Given the description of an element on the screen output the (x, y) to click on. 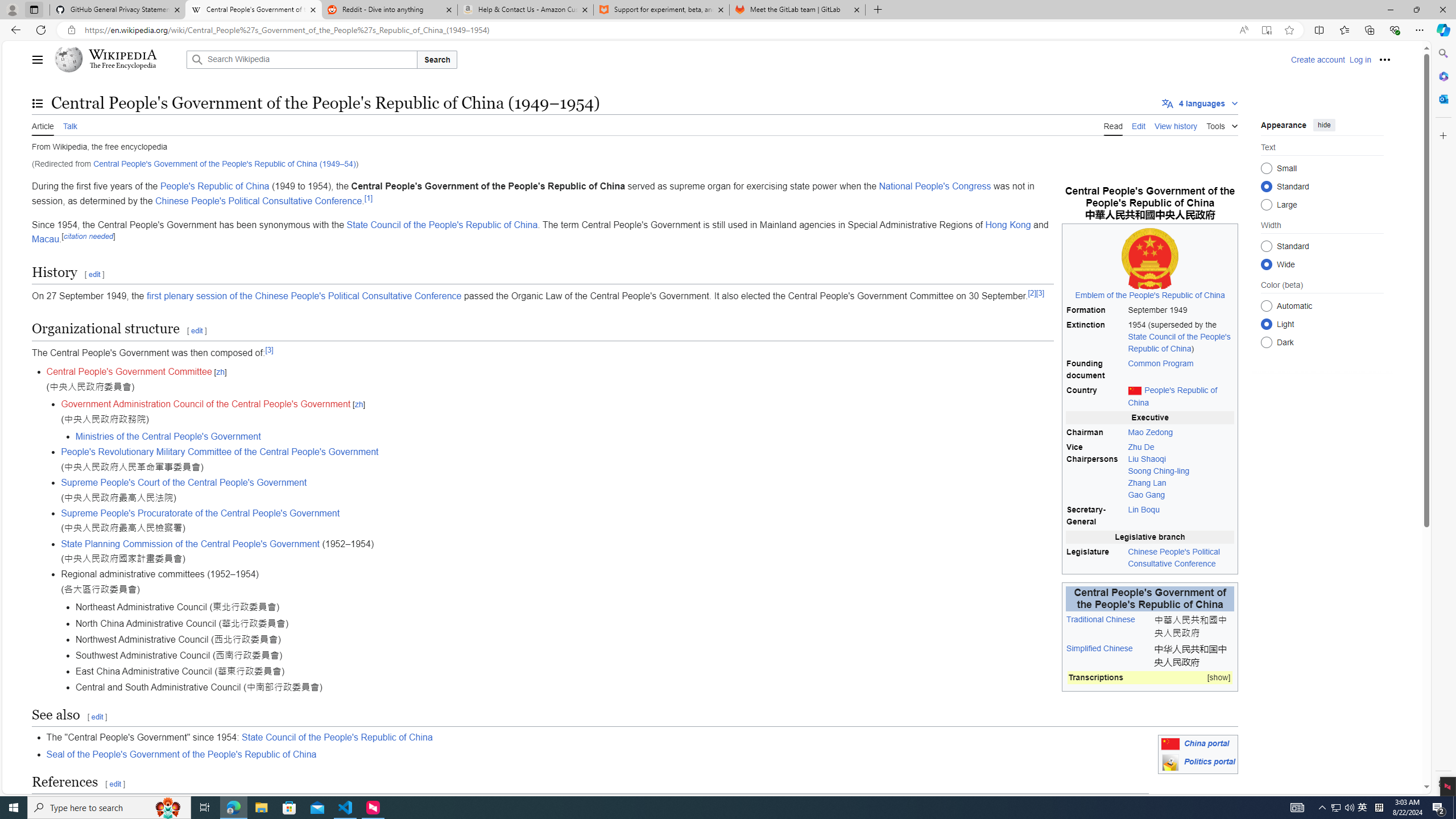
September 1949 (1180, 309)
Emblem of the People's Republic of China (1149, 264)
Class: infobox-full-data (1149, 678)
[3] (268, 349)
Legislature (1095, 557)
Mao Zedong (1150, 431)
Talk (69, 124)
State Council of the People's Republic of China (336, 737)
Create account (1317, 58)
Chinese People's Political Consultative Conference (258, 201)
Article (42, 124)
flag (1170, 744)
